Given the description of an element on the screen output the (x, y) to click on. 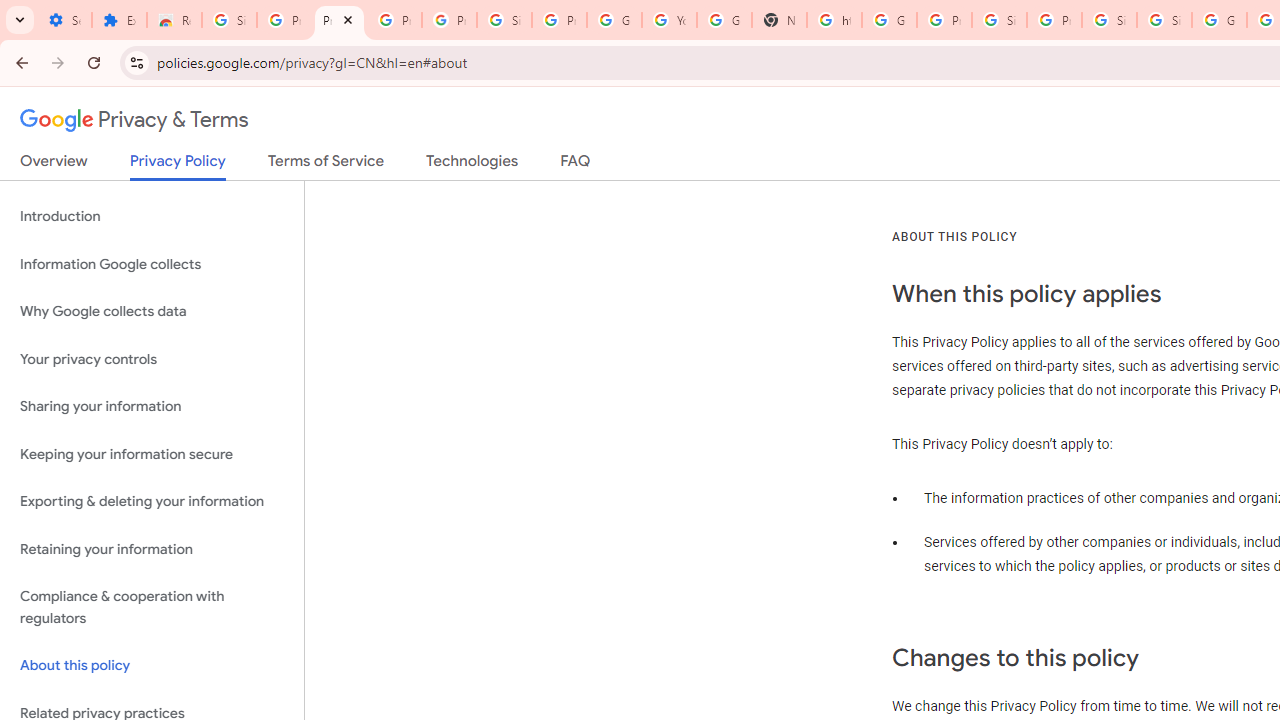
Keeping your information secure (152, 453)
Sign in - Google Accounts (504, 20)
Reviews: Helix Fruit Jump Arcade Game (174, 20)
Sign in - Google Accounts (1108, 20)
Sign in - Google Accounts (229, 20)
Information Google collects (152, 263)
Extensions (119, 20)
Exporting & deleting your information (152, 502)
